Given the description of an element on the screen output the (x, y) to click on. 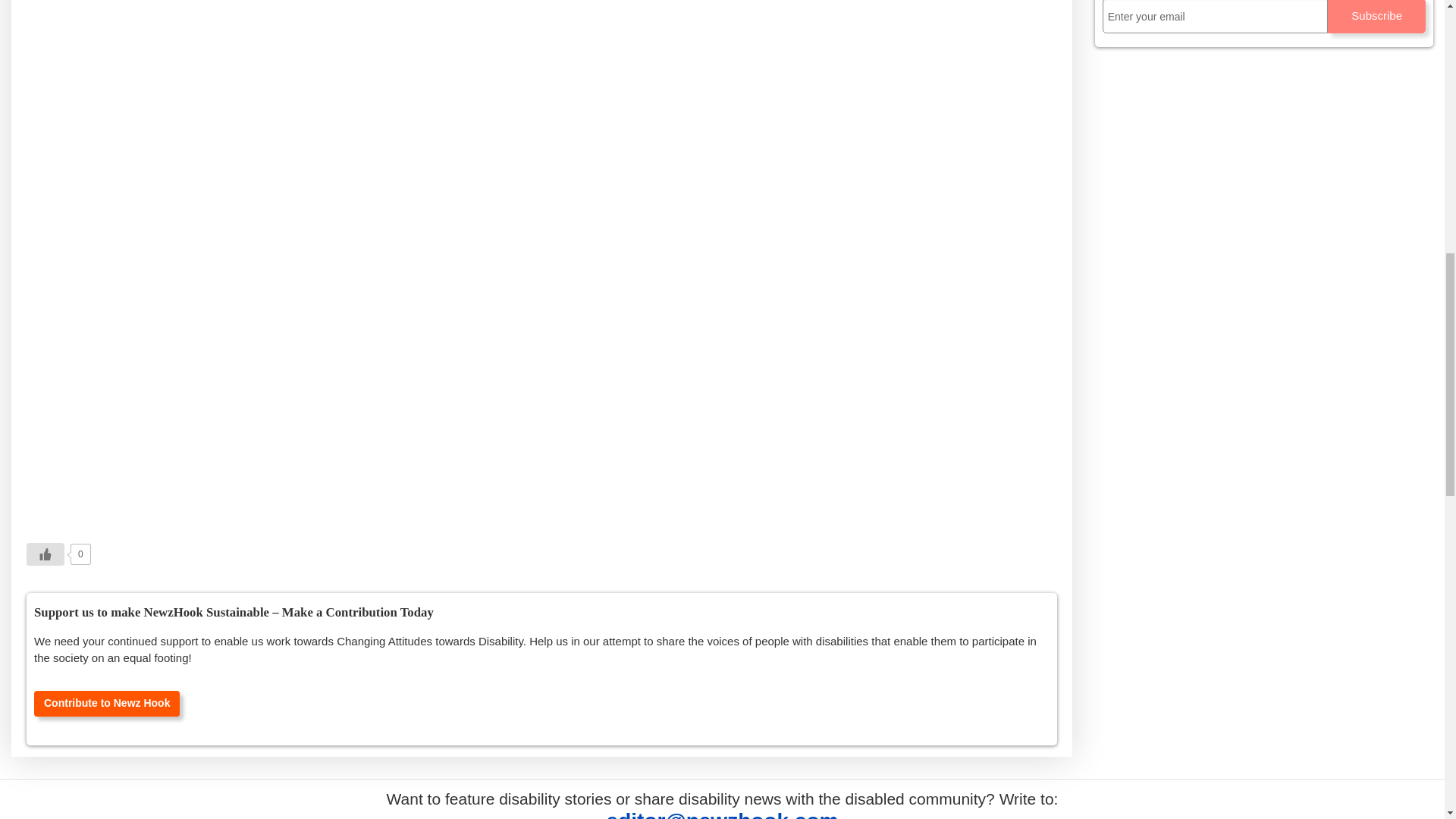
Subscribe (1376, 16)
